Given the description of an element on the screen output the (x, y) to click on. 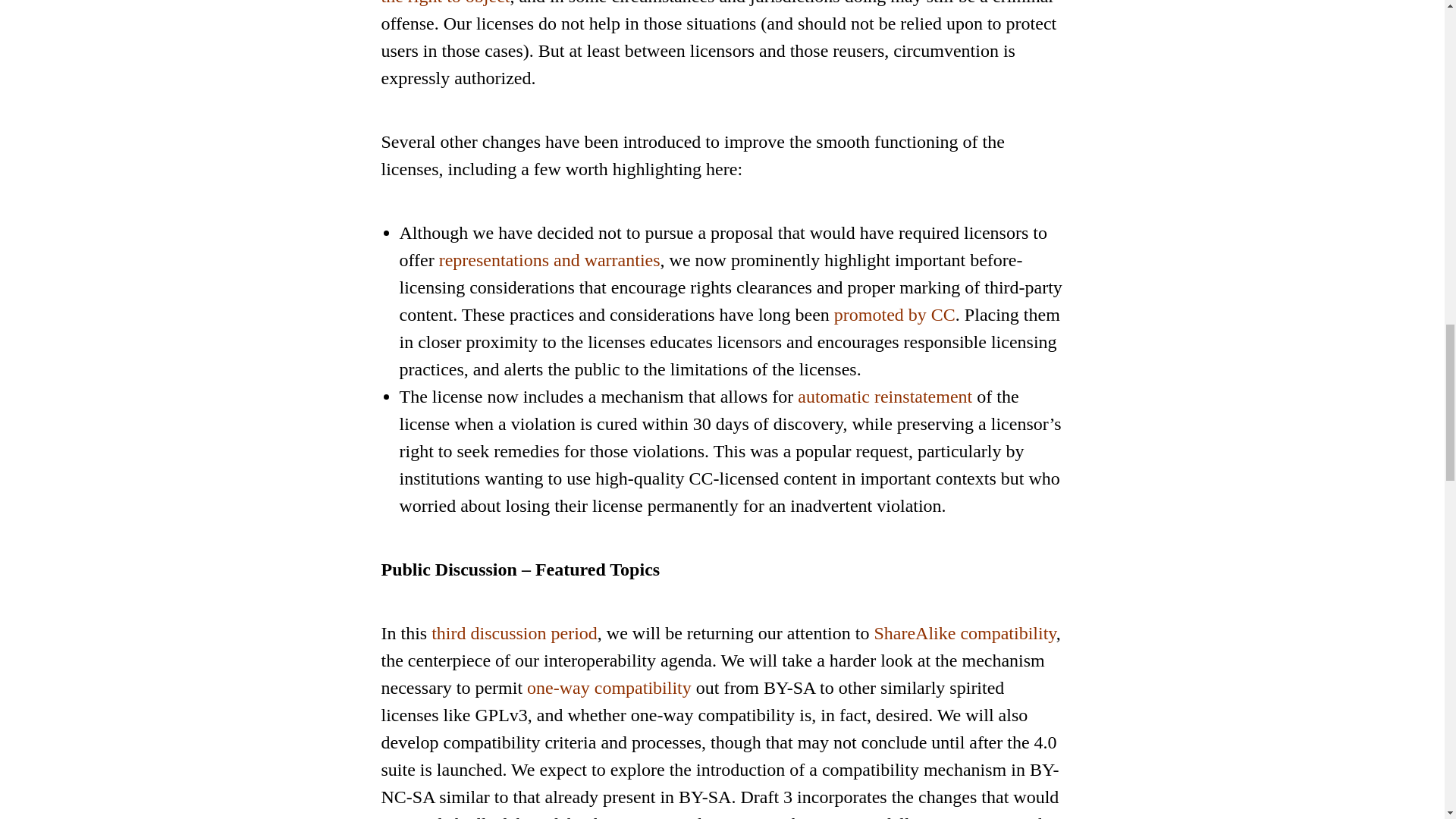
ShareAlike compatibility (964, 632)
representations and warranties (550, 260)
third discussion period (513, 632)
promoted by CC (894, 314)
automatic reinstatement (884, 396)
